Given the description of an element on the screen output the (x, y) to click on. 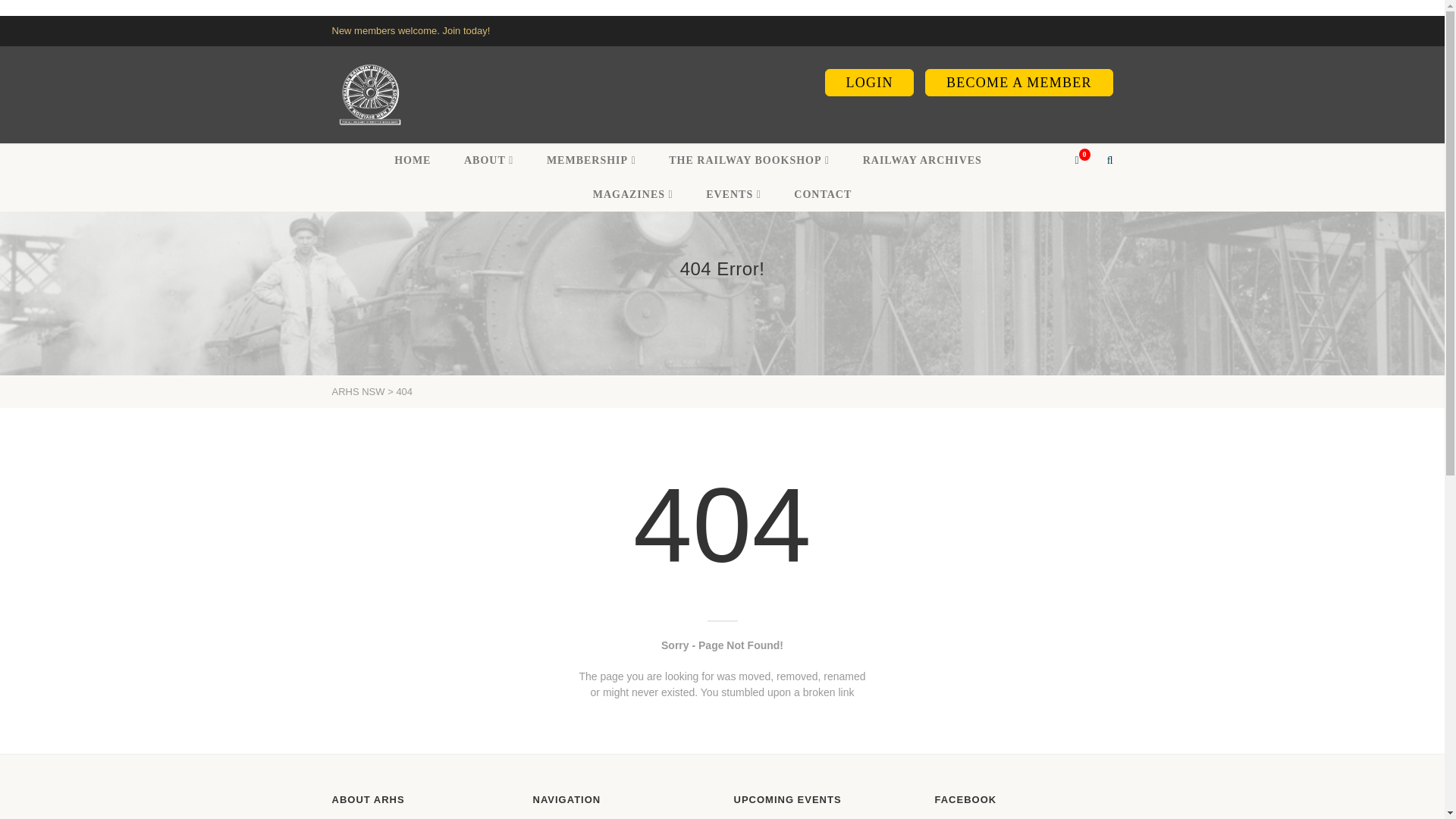
THE RAILWAY BOOKSHOP (748, 160)
Go to ARHS NSW. (358, 391)
CONTACT (822, 194)
404 (404, 391)
RAILWAY ARCHIVES (922, 160)
ARHS NSW (358, 391)
LOGIN (869, 82)
HOME (412, 160)
Go to 404. (404, 391)
MAGAZINES (632, 194)
ABOUT (488, 160)
MEMBERSHIP (591, 160)
BECOME A MEMBER (1018, 82)
ARHS NSW (369, 94)
New members welcome. Join today! (410, 30)
